Given the description of an element on the screen output the (x, y) to click on. 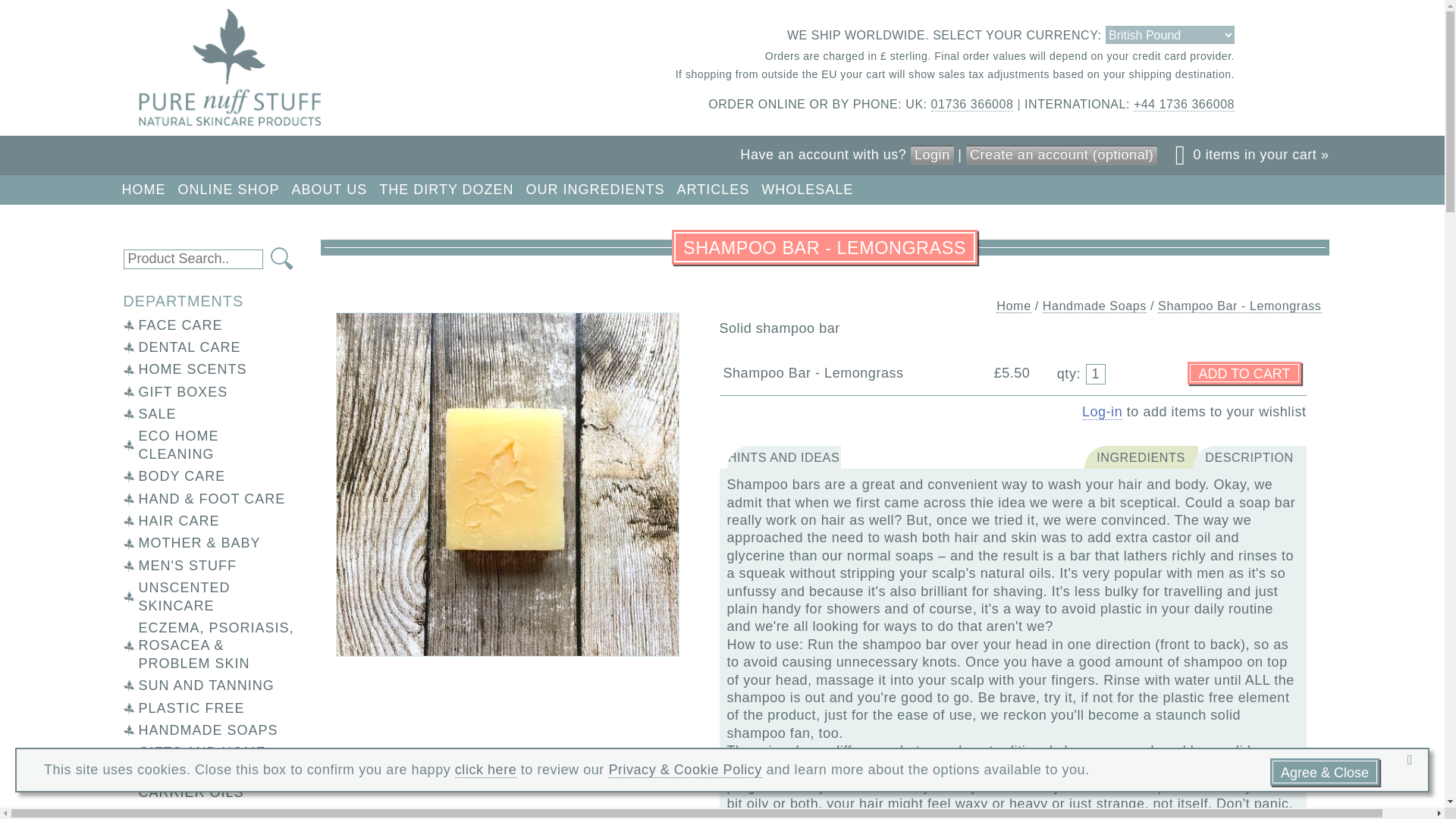
1 (1095, 373)
go (282, 258)
HOME (142, 189)
01736 366008 (972, 104)
go to the log-in page (1101, 412)
Add to Cart (1243, 372)
Login (932, 154)
